Given the description of an element on the screen output the (x, y) to click on. 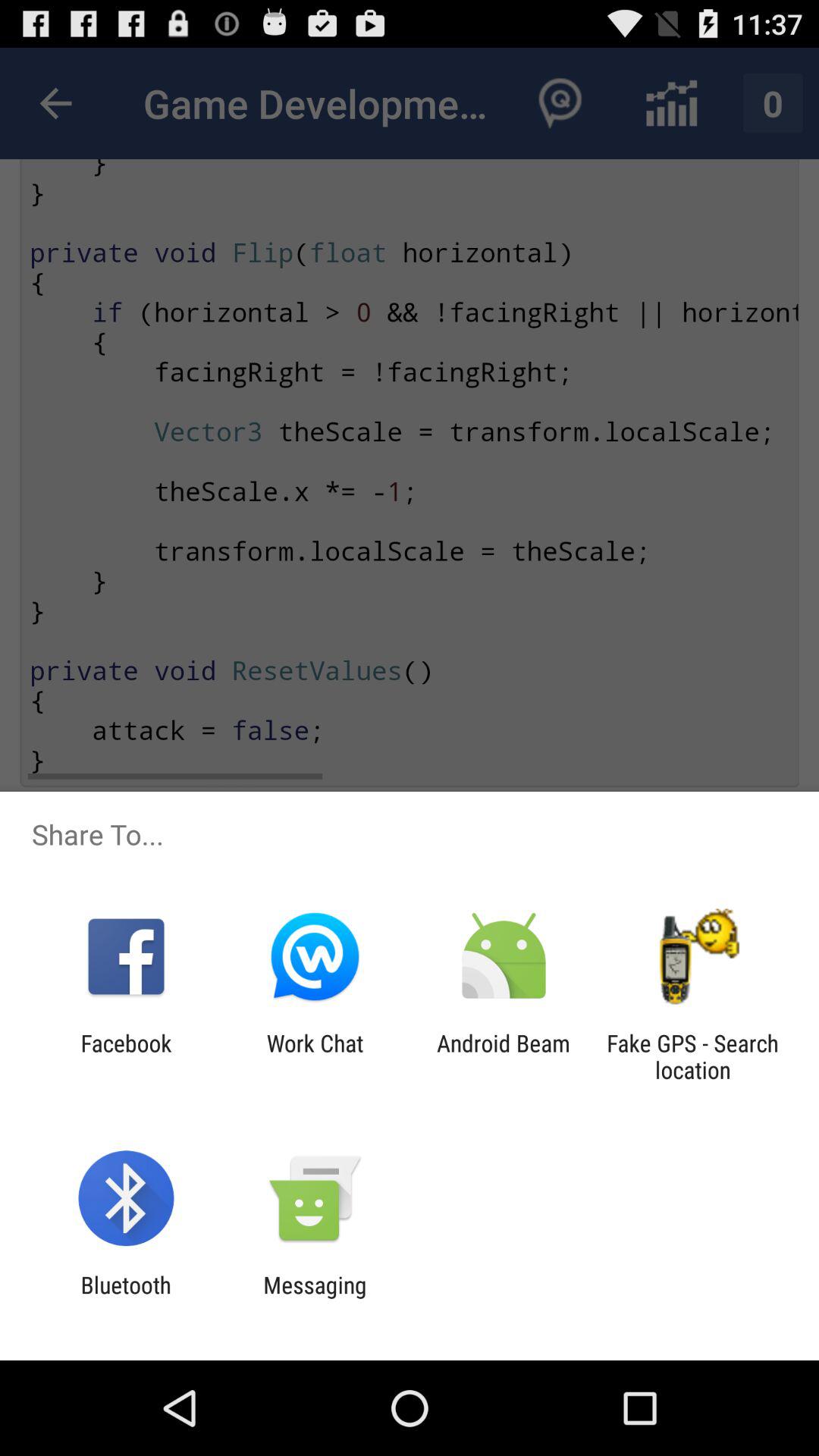
choose app to the right of the android beam (692, 1056)
